Given the description of an element on the screen output the (x, y) to click on. 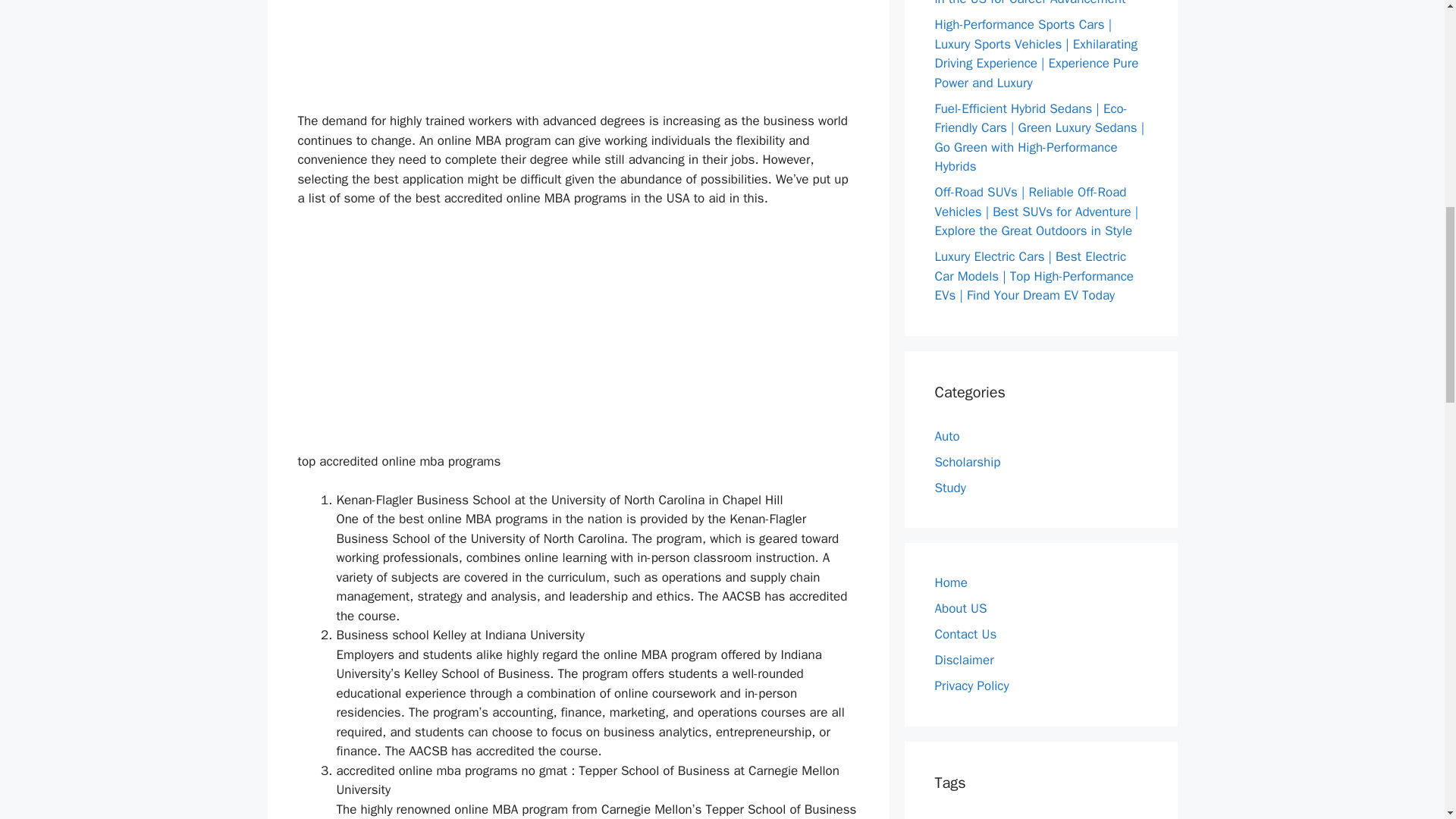
Home (950, 582)
Study (949, 487)
Advertisement (576, 333)
About US (960, 608)
Scholarship (967, 461)
Privacy Policy (971, 685)
Contact Us (964, 634)
Auto (946, 435)
Disclaimer (963, 659)
Advertisement (576, 49)
